Given the description of an element on the screen output the (x, y) to click on. 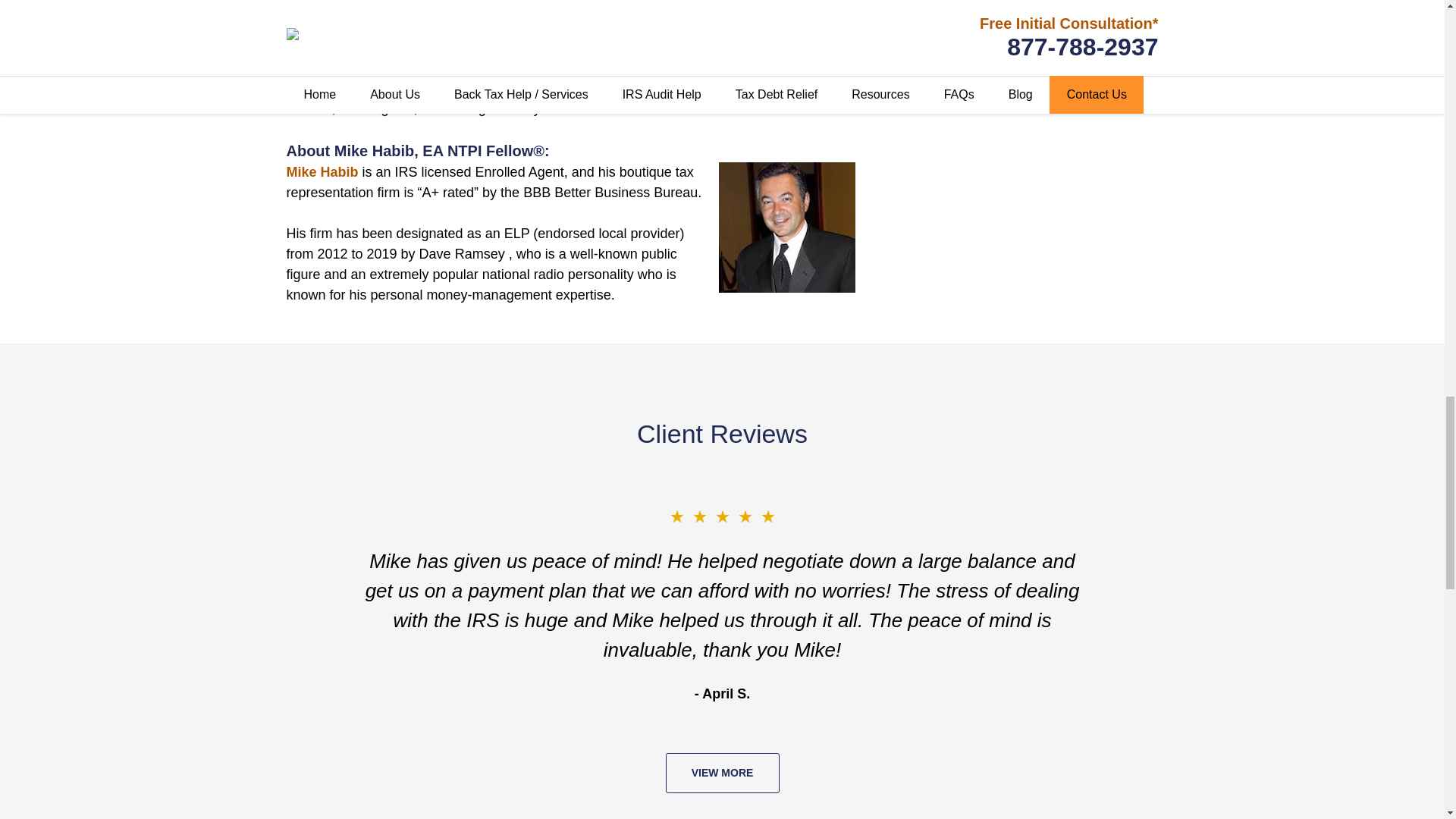
Mike Habib (322, 171)
